Given the description of an element on the screen output the (x, y) to click on. 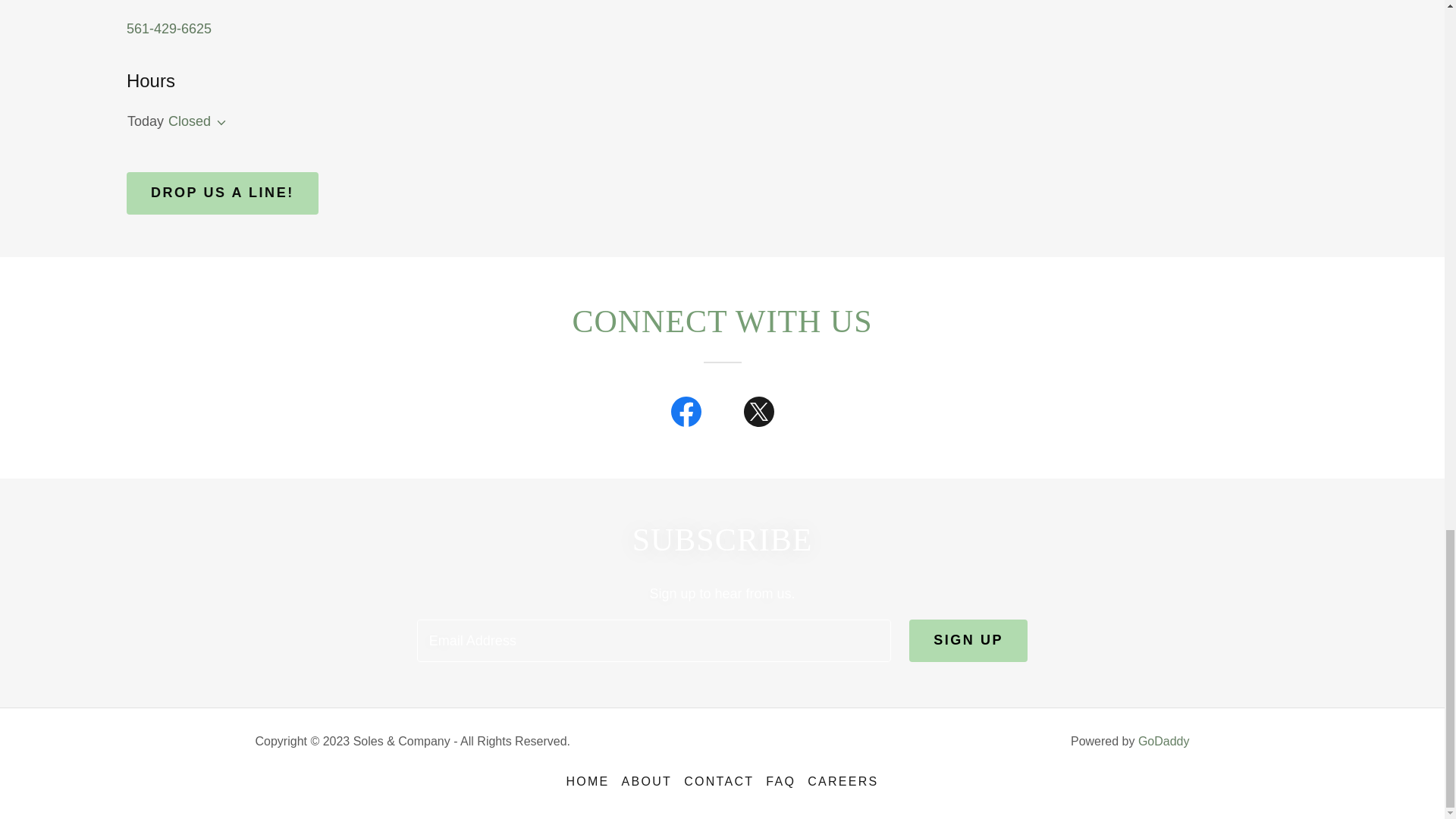
CONTACT (719, 781)
DROP US A LINE! (222, 192)
561-429-6625 (168, 28)
CAREERS (842, 781)
FAQ (781, 781)
HOME (586, 781)
GoDaddy (1163, 740)
SIGN UP (967, 640)
ABOUT (646, 781)
